Given the description of an element on the screen output the (x, y) to click on. 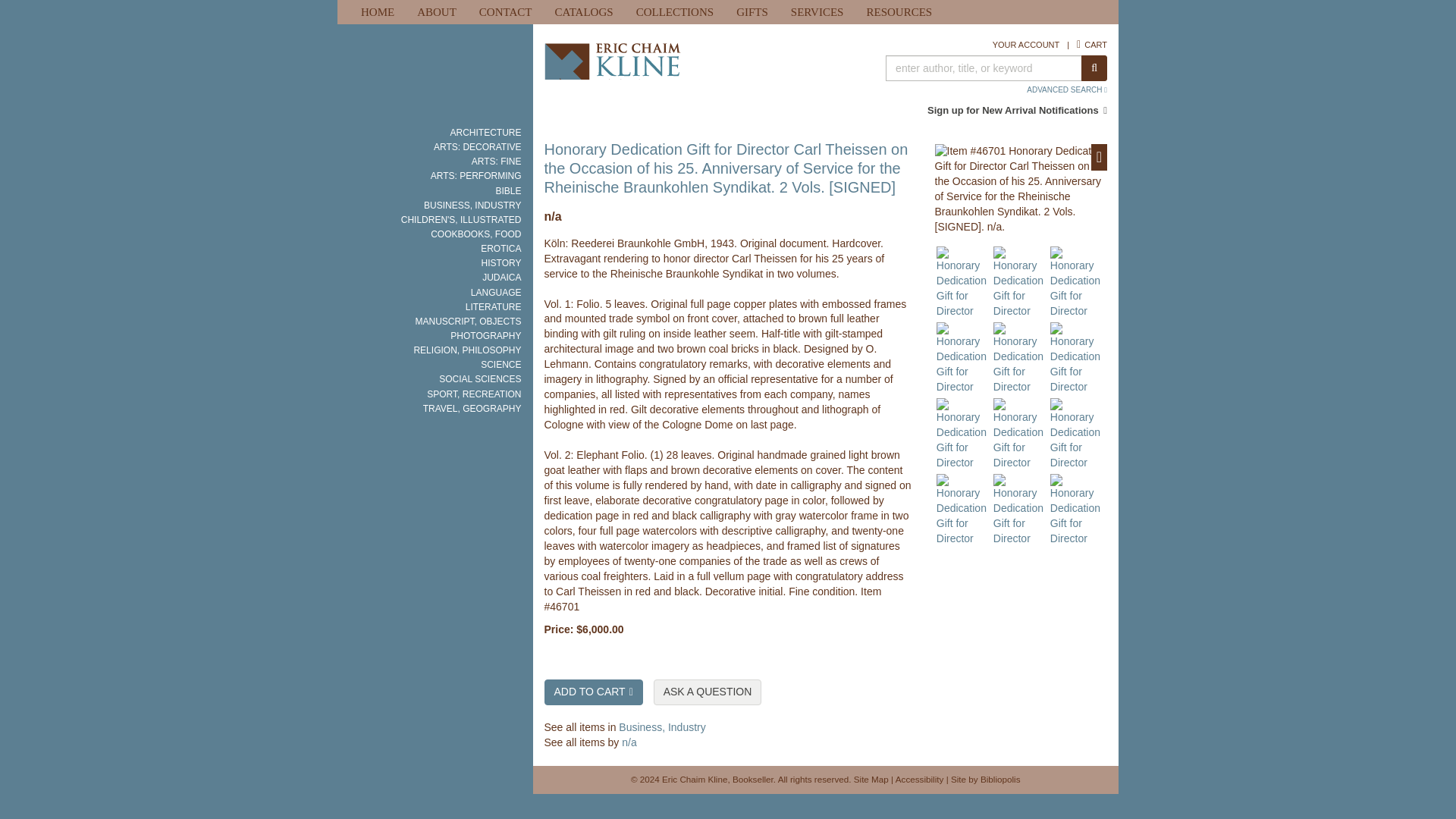
ABOUT (436, 11)
Site by Bibliopolis (985, 778)
Eric Chaim Kline, Bookseller (678, 76)
CONTACT (505, 11)
SERVICES (817, 11)
RESOURCES (898, 11)
HOME (377, 11)
CATALOGS (583, 11)
GIFTS (751, 11)
COLLECTIONS (674, 11)
Skip to main content (8, 7)
